Given the description of an element on the screen output the (x, y) to click on. 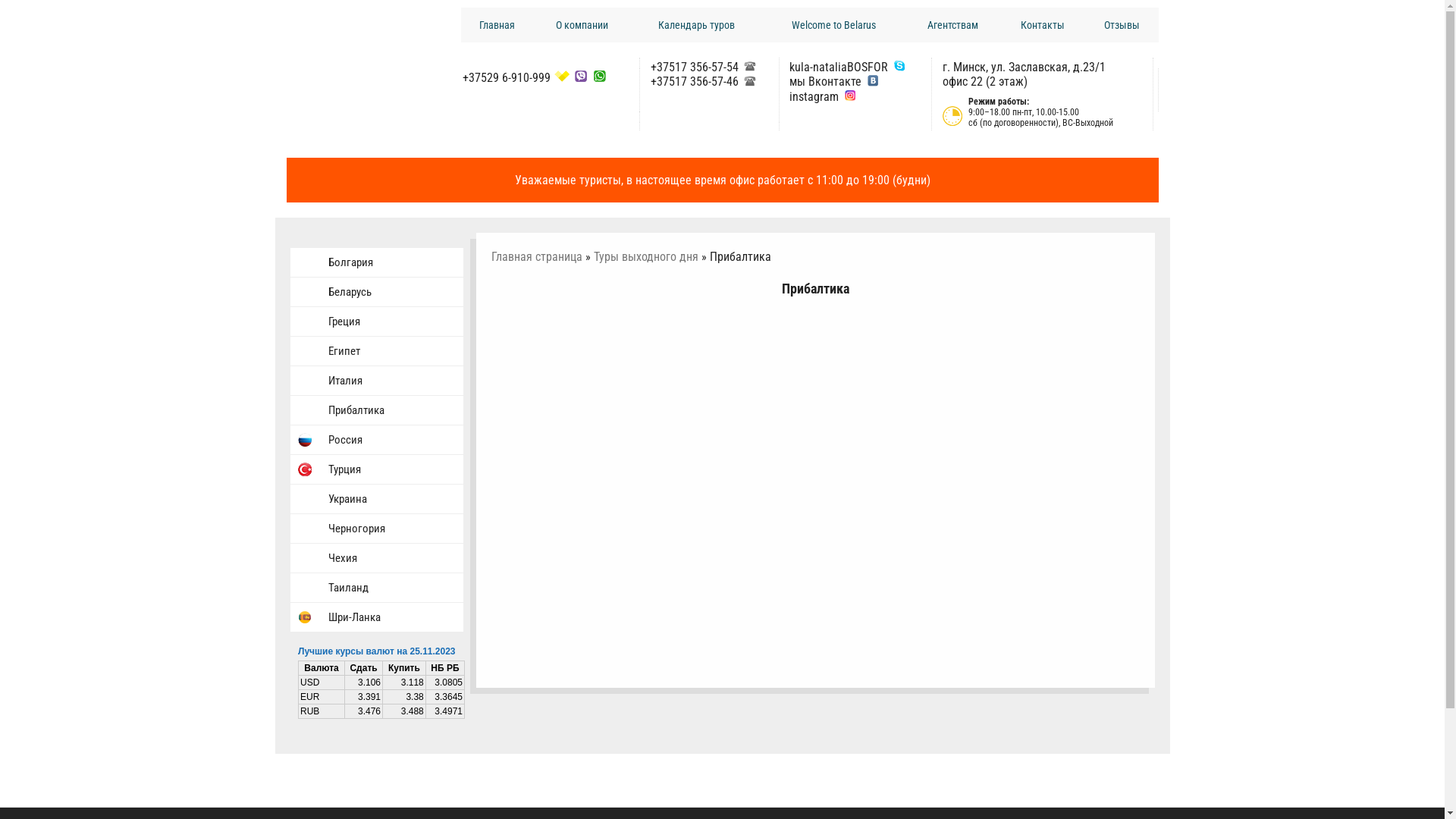
+37529 6-910-999 Element type: text (506, 77)
+37517 356-57-46 Element type: text (694, 82)
instagram Element type: text (813, 96)
Welcome to Belarus Element type: text (833, 24)
kula-nataliaBOSFOR Element type: text (838, 66)
+37517 356-57-54 Element type: text (694, 66)
